Given the description of an element on the screen output the (x, y) to click on. 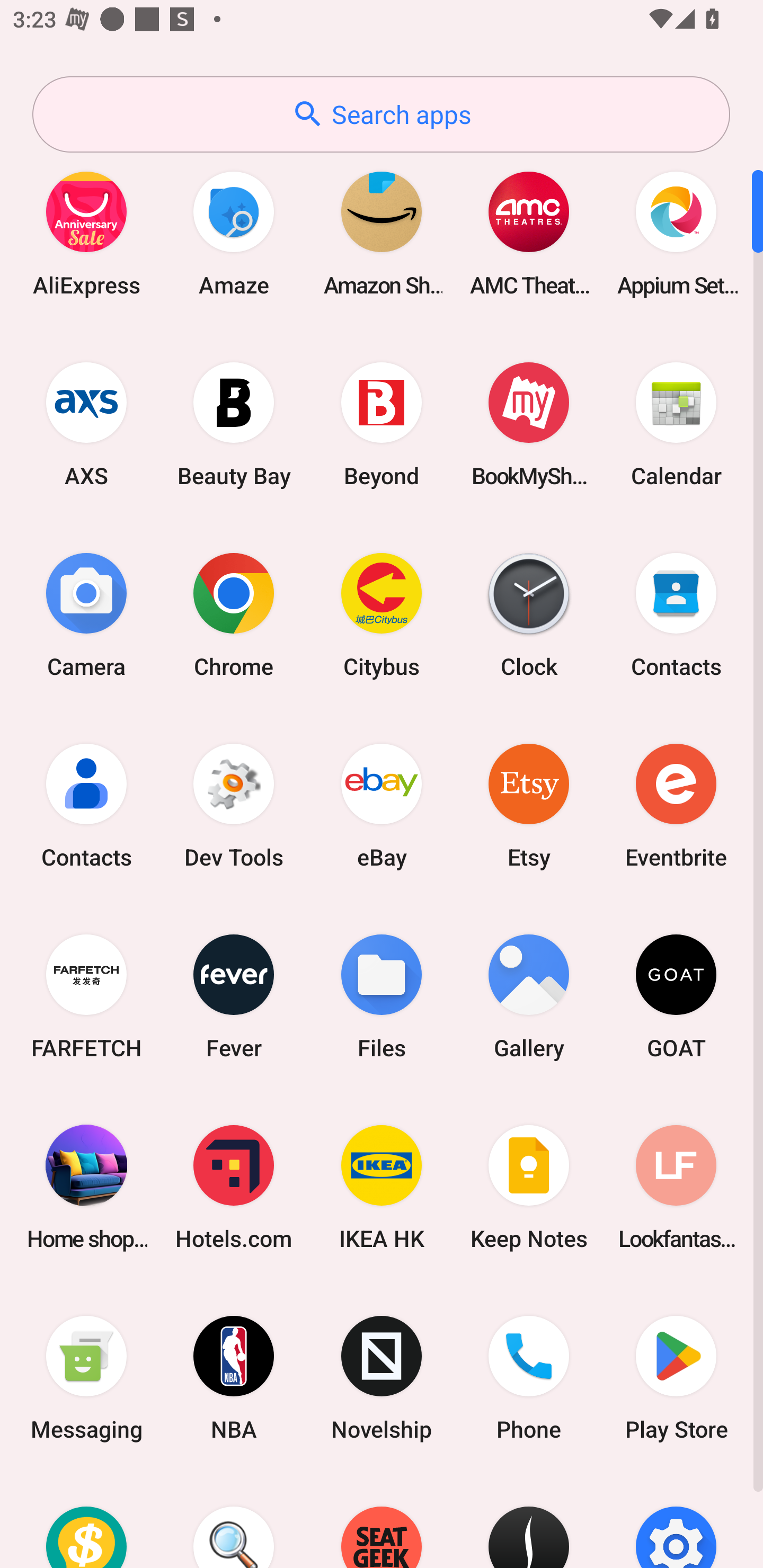
  Search apps (381, 114)
AliExpress (86, 233)
Amaze (233, 233)
Amazon Shopping (381, 233)
AMC Theatres (528, 233)
Appium Settings (676, 233)
AXS (86, 424)
Beauty Bay (233, 424)
Beyond (381, 424)
BookMyShow (528, 424)
Calendar (676, 424)
Camera (86, 614)
Chrome (233, 614)
Citybus (381, 614)
Clock (528, 614)
Contacts (676, 614)
Contacts (86, 805)
Dev Tools (233, 805)
eBay (381, 805)
Etsy (528, 805)
Eventbrite (676, 805)
FARFETCH (86, 996)
Fever (233, 996)
Files (381, 996)
Gallery (528, 996)
GOAT (676, 996)
Home shopping (86, 1186)
Hotels.com (233, 1186)
IKEA HK (381, 1186)
Keep Notes (528, 1186)
Lookfantastic (676, 1186)
Messaging (86, 1377)
NBA (233, 1377)
Novelship (381, 1377)
Phone (528, 1377)
Play Store (676, 1377)
Price (86, 1520)
Search (233, 1520)
SeatGeek (381, 1520)
Sephora (528, 1520)
Settings (676, 1520)
